Given the description of an element on the screen output the (x, y) to click on. 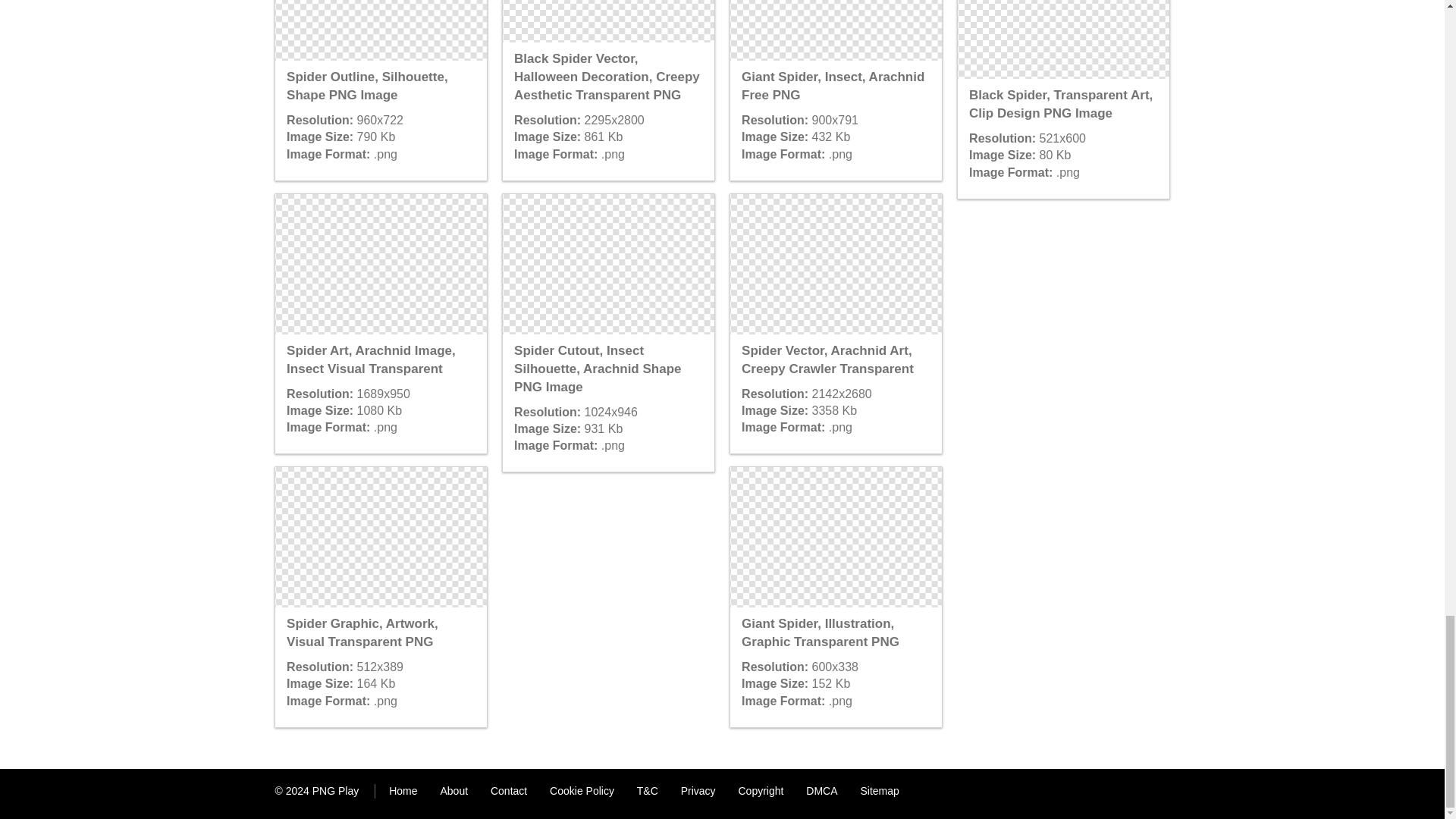
Spider Outline, Silhouette, Shape PNG Image (380, 30)
Spider Graphic, Artwork, Visual Transparent PNG (380, 536)
Spider Cutout, Insect Silhouette, Arachnid Shape PNG Image (607, 264)
Spider Art, Arachnid Image, Insect Visual Transparent (380, 264)
